Given the description of an element on the screen output the (x, y) to click on. 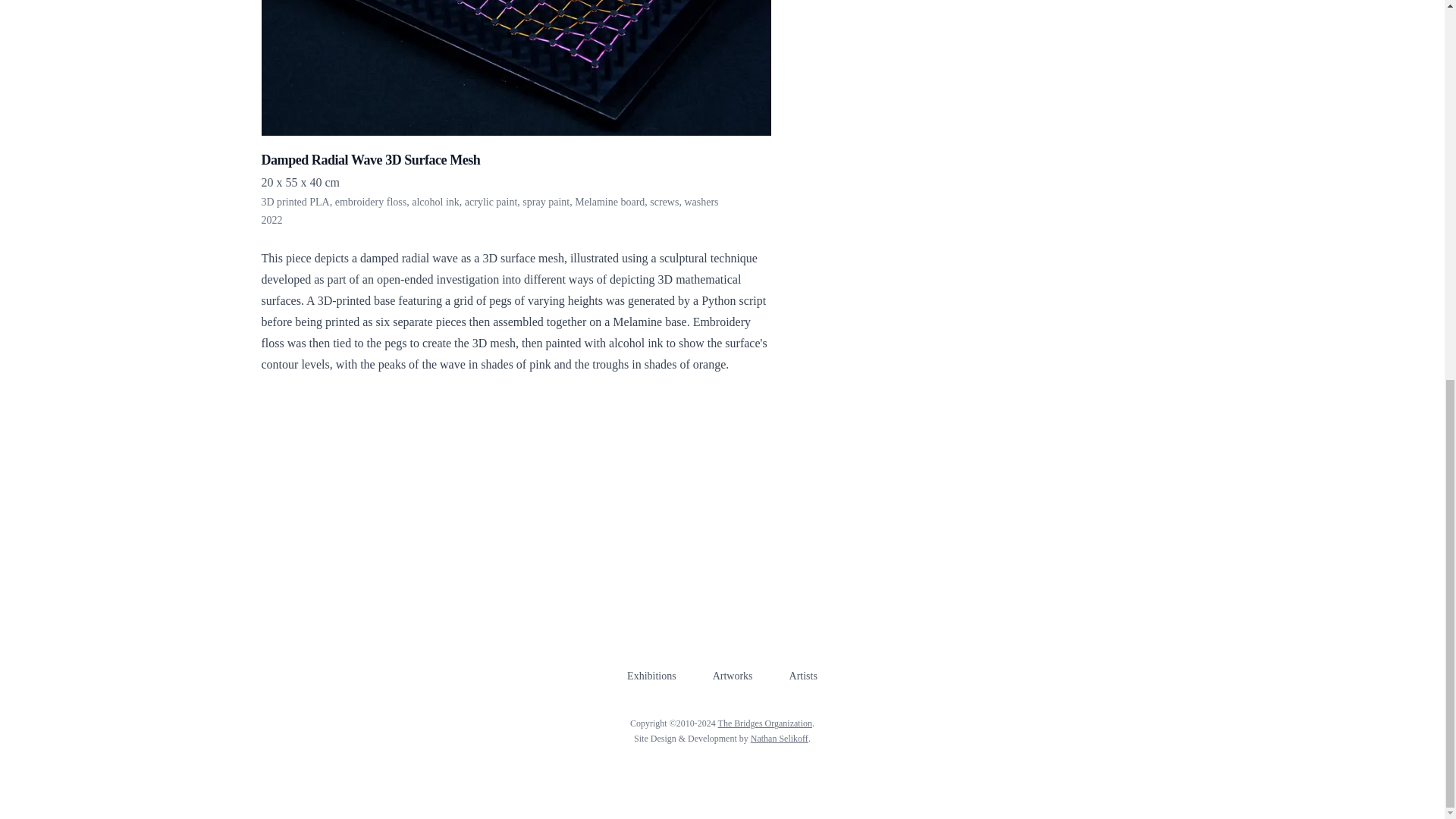
Exhibitions (652, 675)
Artists (802, 675)
Artworks (732, 675)
The Bridges Organization (764, 723)
Nathan Selikoff (779, 738)
